Given the description of an element on the screen output the (x, y) to click on. 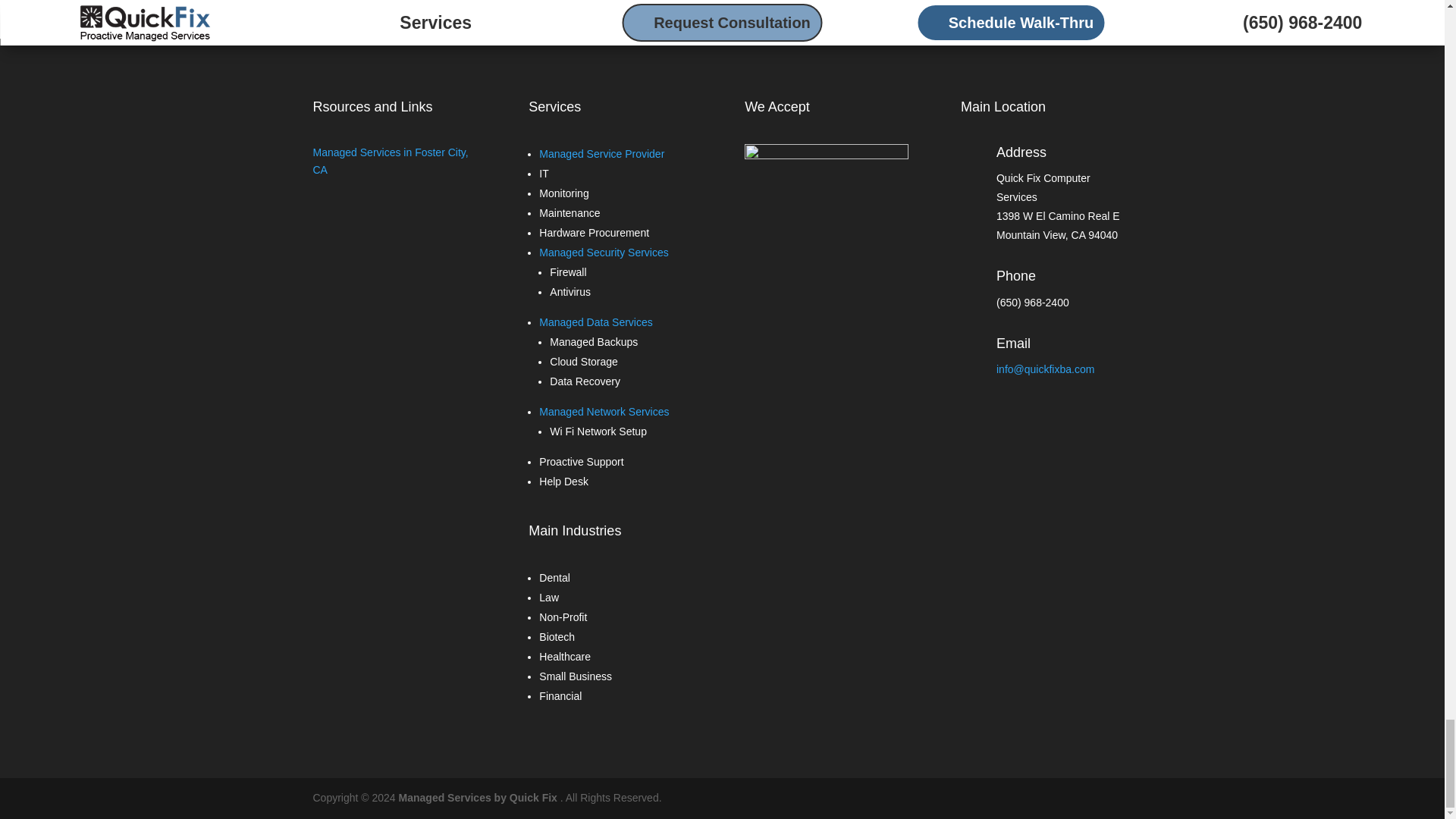
Managed Security Services (603, 252)
Managed Services in Foster City, CA (390, 161)
Managed Services by Quick Fix (477, 797)
Managed Data Services (595, 322)
Managed Service Provider (600, 153)
Managed Network Services (603, 411)
